Given the description of an element on the screen output the (x, y) to click on. 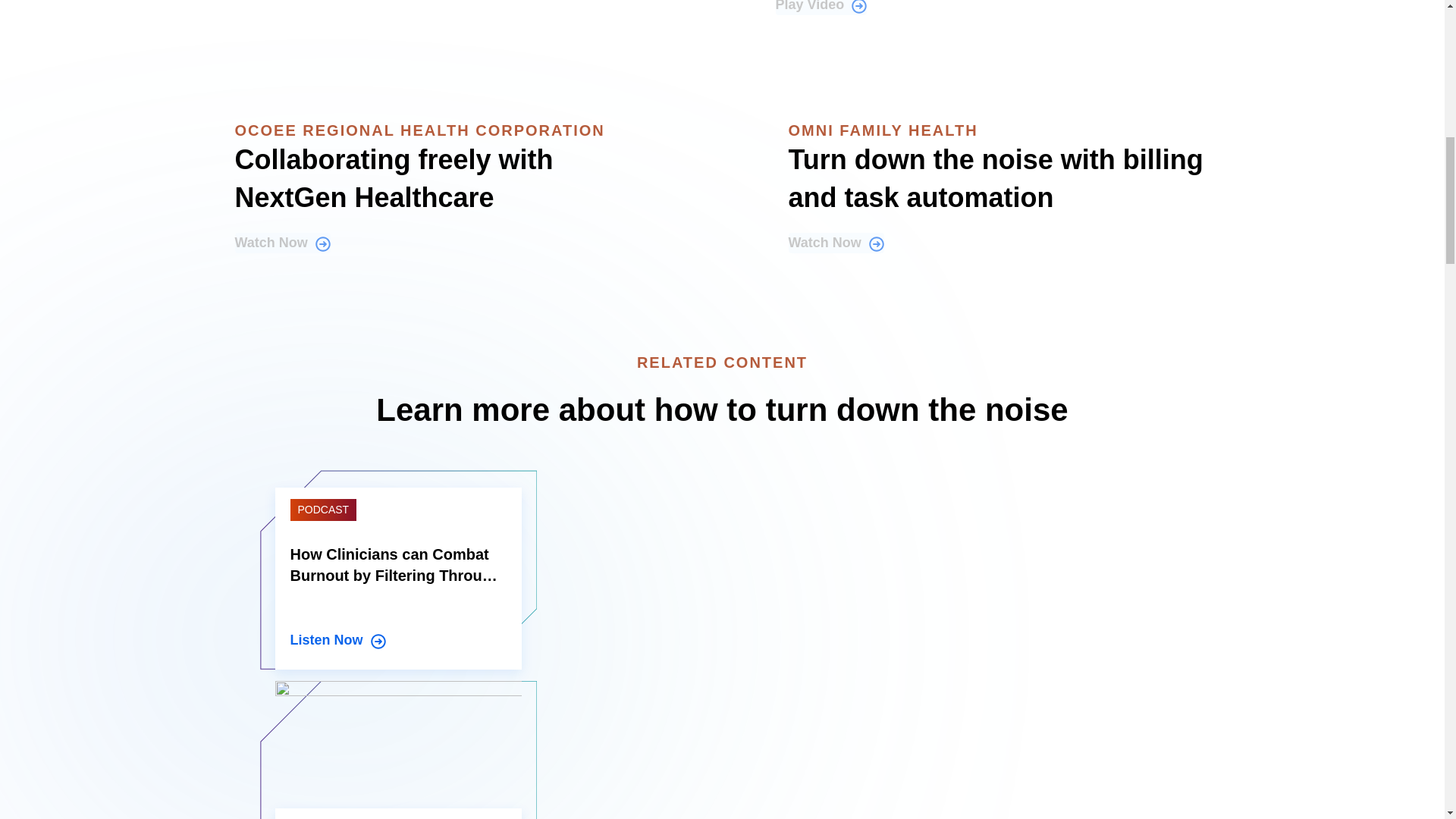
Watch Now (836, 242)
Watch Now (282, 242)
Listen Now (397, 639)
Play Video (820, 7)
